Given the description of an element on the screen output the (x, y) to click on. 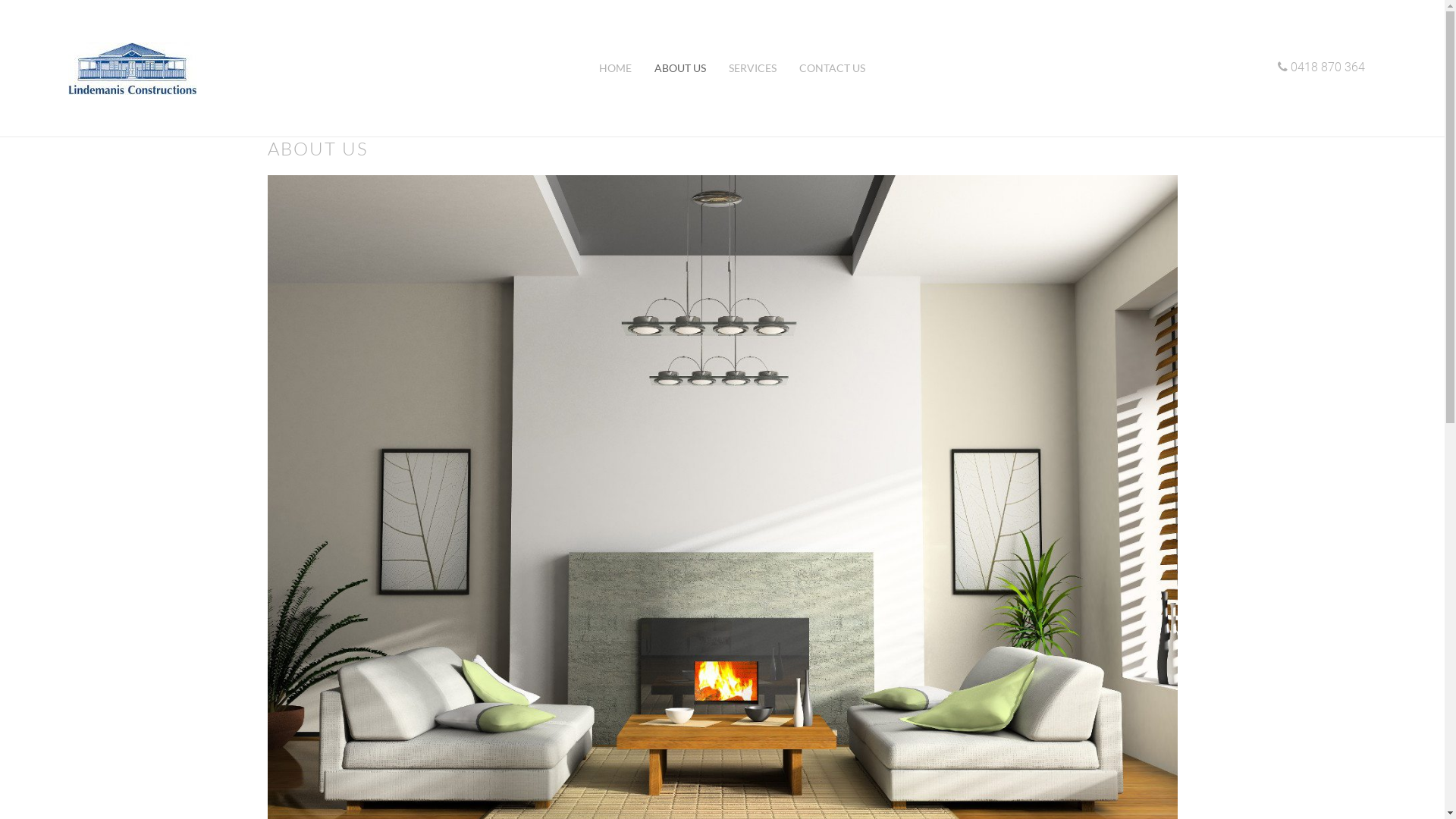
ABOUT US Element type: text (680, 68)
SERVICES Element type: text (752, 68)
CONTACT US Element type: text (831, 68)
HOME Element type: text (614, 68)
